Given the description of an element on the screen output the (x, y) to click on. 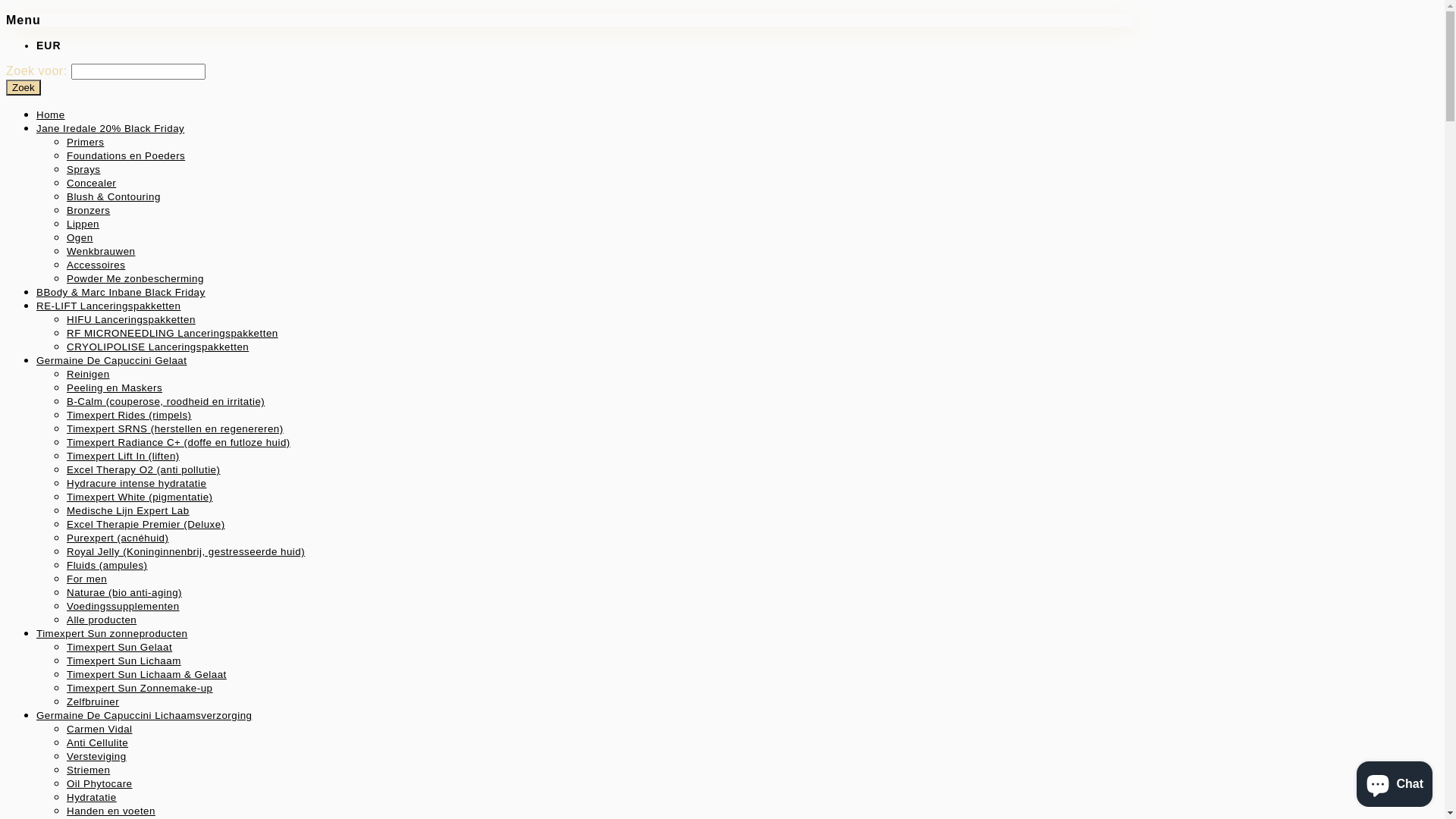
Timexpert SRNS (herstellen en regenereren) Element type: text (174, 427)
Timexpert Lift In (liften) Element type: text (122, 454)
BBody & Marc Inbane Black Friday Element type: text (120, 291)
Onlinewinkel-chat van Shopify Element type: hover (1394, 780)
Primers Element type: text (84, 140)
Timexpert White (pigmentatie) Element type: text (139, 495)
HIFU Lanceringspakketten Element type: text (130, 318)
RE-LIFT Lanceringspakketten Element type: text (108, 304)
Powder Me zonbescherming Element type: text (134, 277)
Sprays Element type: text (83, 168)
Germaine De Capuccini Lichaamsverzorging Element type: text (143, 714)
Versteviging Element type: text (96, 755)
Royal Jelly (Koninginnenbrij, gestresseerde huid) Element type: text (185, 550)
Timexpert Sun Zonnemake-up Element type: text (139, 686)
Wenkbrauwen Element type: text (100, 250)
Medische Lijn Expert Lab Element type: text (127, 509)
Carmen Vidal Element type: text (99, 727)
Foundations en Poeders Element type: text (125, 154)
Fluids (ampules) Element type: text (106, 564)
B-Calm (couperose, roodheid en irritatie) Element type: text (165, 400)
Zoek Element type: text (23, 87)
Excel Therapie Premier (Deluxe) Element type: text (145, 523)
Timexpert Sun Lichaam Element type: text (123, 659)
Home Element type: text (50, 113)
Hydratatie Element type: text (91, 796)
Alle producten Element type: text (101, 618)
CRYOLIPOLISE Lanceringspakketten Element type: text (157, 345)
Concealer Element type: text (91, 181)
Reinigen Element type: text (87, 373)
Voedingssupplementen Element type: text (122, 605)
Zelfbruiner Element type: text (92, 700)
Handen en voeten Element type: text (110, 809)
Timexpert Radiance C+ (doffe en futloze huid) Element type: text (178, 441)
Accessoires Element type: text (95, 263)
Striemen Element type: text (87, 768)
Oil Phytocare Element type: text (99, 782)
Ogen Element type: text (79, 236)
Lippen Element type: text (82, 222)
Excel Therapy O2 (anti pollutie) Element type: text (142, 468)
Jane Iredale 20% Black Friday Element type: text (110, 127)
Naturae (bio anti-aging) Element type: text (124, 591)
Hydracure intense hydratatie Element type: text (136, 482)
Blush & Contouring Element type: text (113, 195)
Anti Cellulite Element type: text (97, 741)
Germaine De Capuccini Gelaat Element type: text (111, 359)
Bronzers Element type: text (87, 209)
Timexpert Rides (rimpels) Element type: text (128, 413)
Peeling en Maskers Element type: text (114, 386)
RF MICRONEEDLING Lanceringspakketten Element type: text (172, 332)
Timexpert Sun zonneproducten Element type: text (111, 632)
For men Element type: text (86, 577)
Timexpert Sun Gelaat Element type: text (119, 646)
Timexpert Sun Lichaam & Gelaat Element type: text (146, 673)
